Given the description of an element on the screen output the (x, y) to click on. 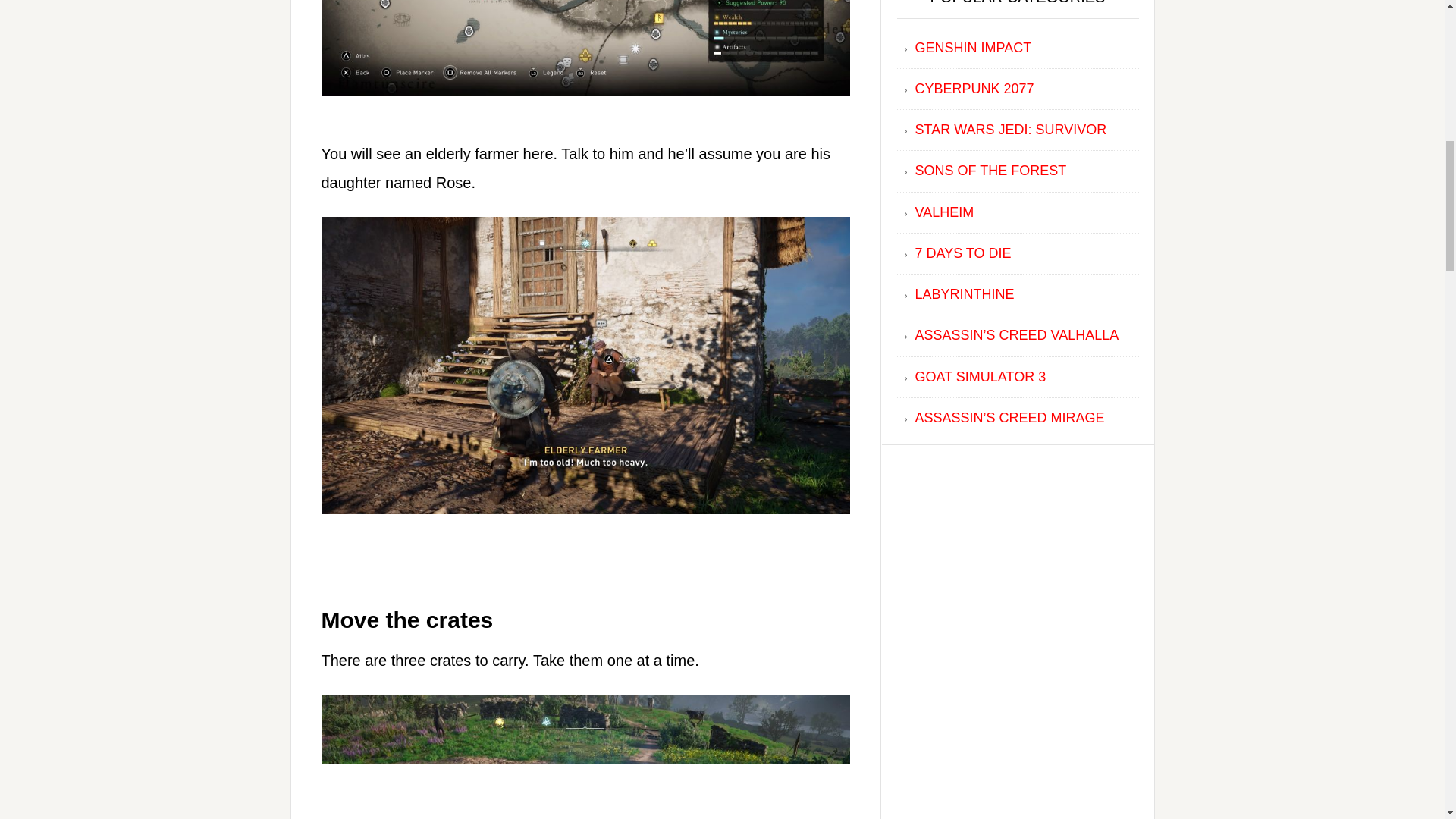
STAR WARS JEDI: SURVIVOR (1010, 129)
SONS OF THE FOREST (989, 170)
GOAT SIMULATOR 3 (979, 376)
GENSHIN IMPACT (972, 46)
LABYRINTHINE (963, 294)
7 DAYS TO DIE (962, 253)
VALHEIM (944, 212)
CYBERPUNK 2077 (973, 88)
